Given the description of an element on the screen output the (x, y) to click on. 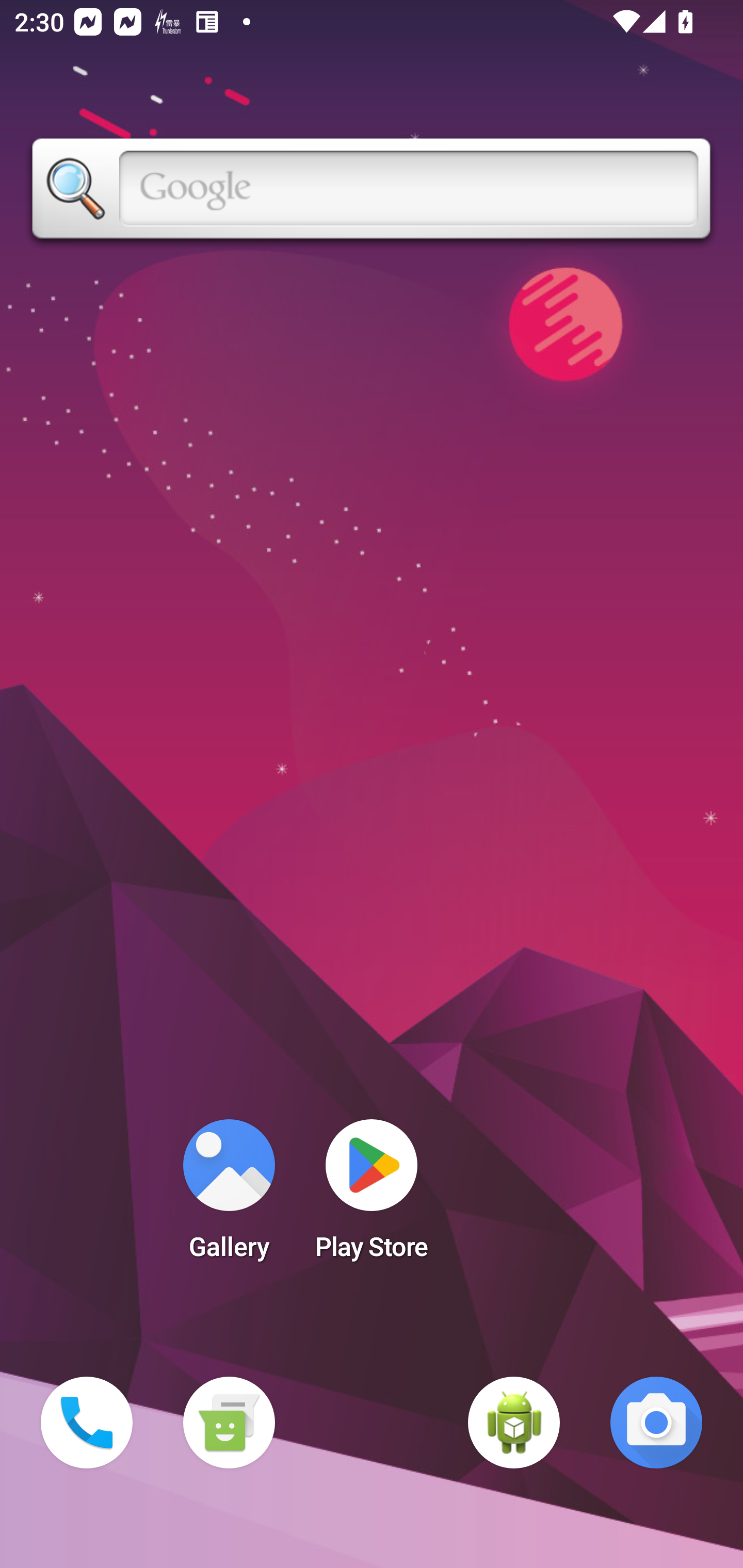
Gallery (228, 1195)
Play Store (371, 1195)
Phone (86, 1422)
Messaging (228, 1422)
WebView Browser Tester (513, 1422)
Camera (656, 1422)
